Given the description of an element on the screen output the (x, y) to click on. 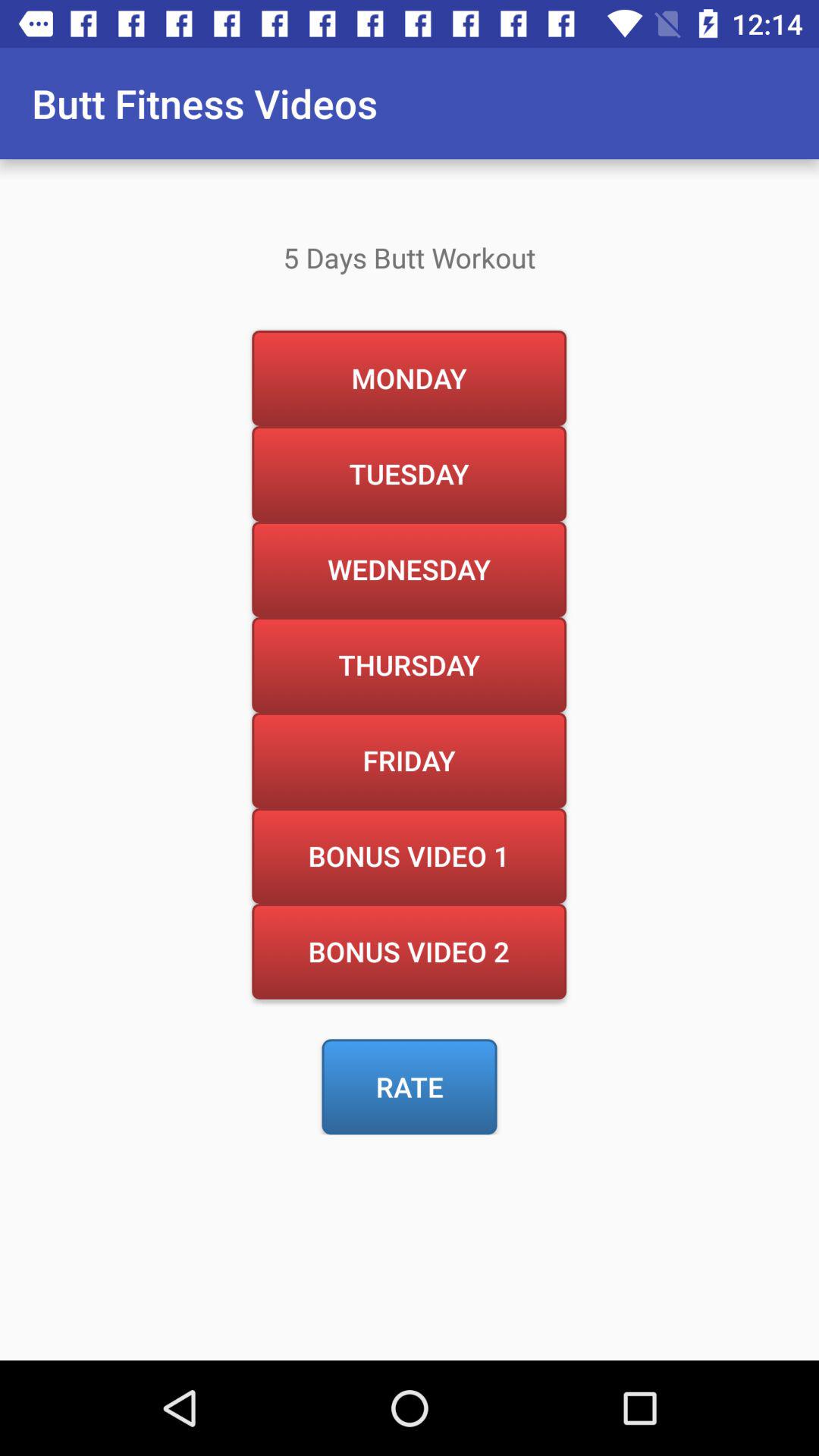
swipe to wednesday item (408, 569)
